Given the description of an element on the screen output the (x, y) to click on. 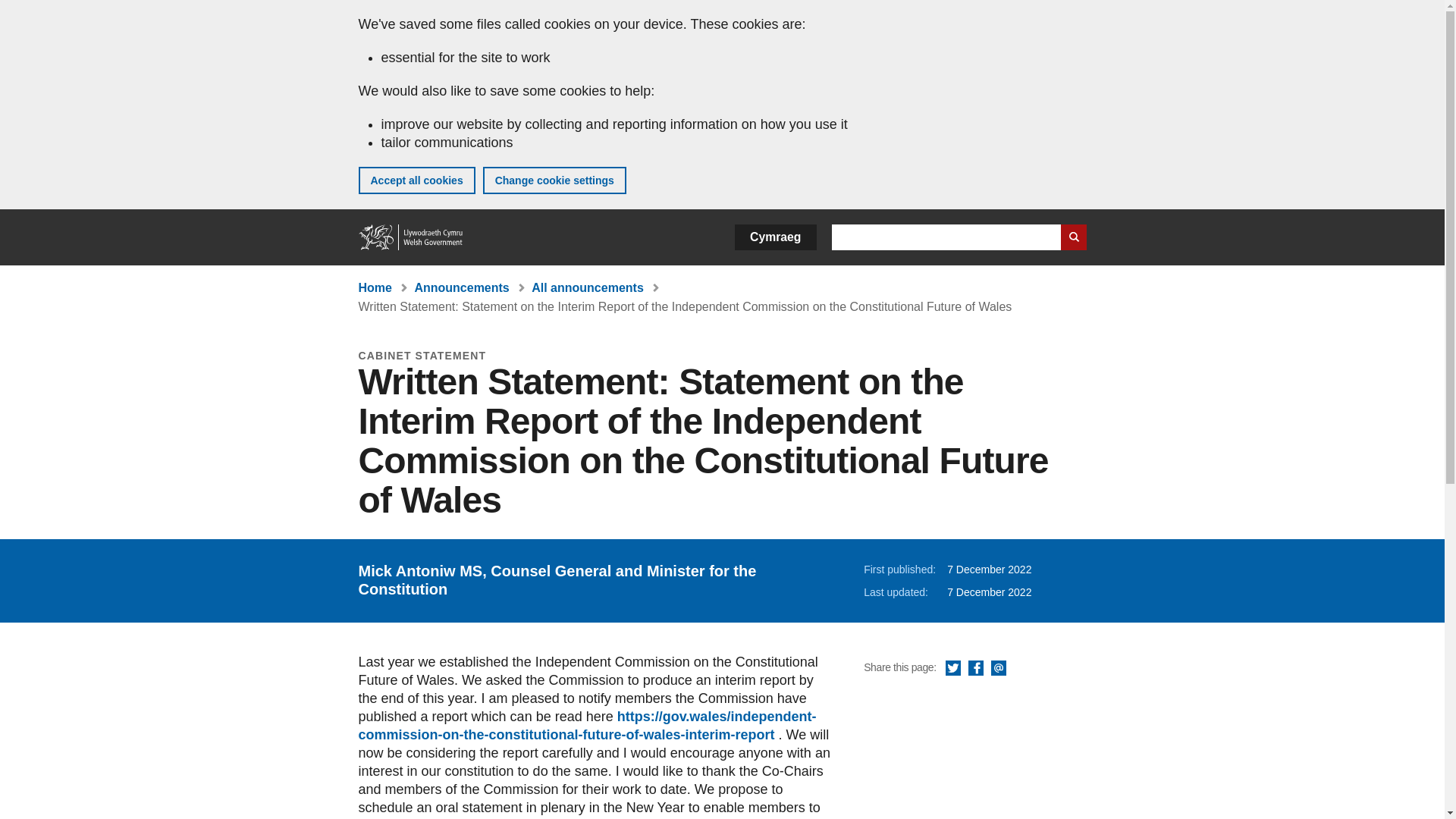
Facebook (976, 668)
Search website (1072, 237)
Change cookie settings (554, 180)
Email (998, 668)
Home (411, 237)
All announcements (587, 287)
Skip to main content (22, 11)
Twitter (952, 668)
Cymraeg (775, 237)
